Given the description of an element on the screen output the (x, y) to click on. 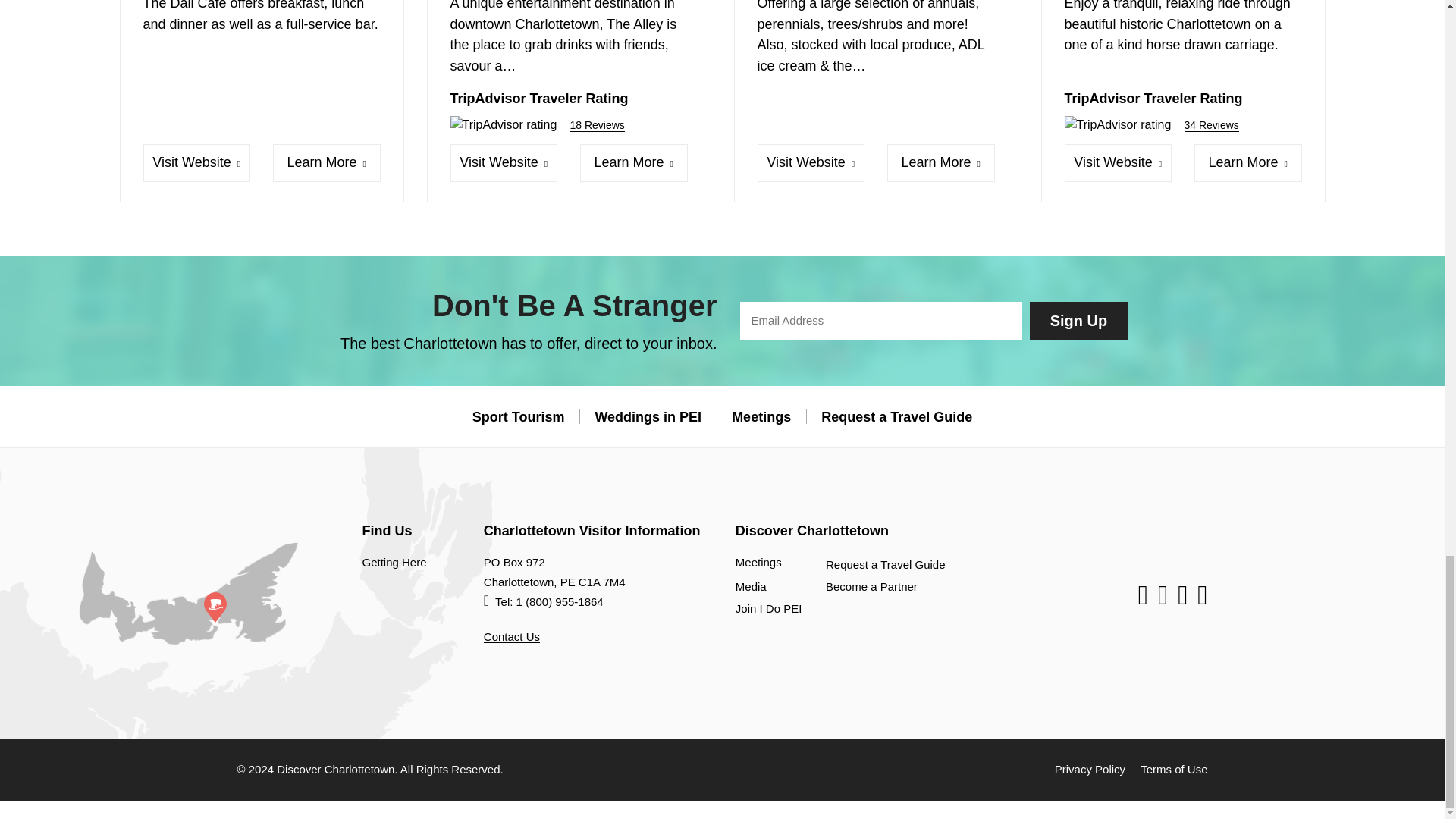
Sign Up (1078, 320)
